Given the description of an element on the screen output the (x, y) to click on. 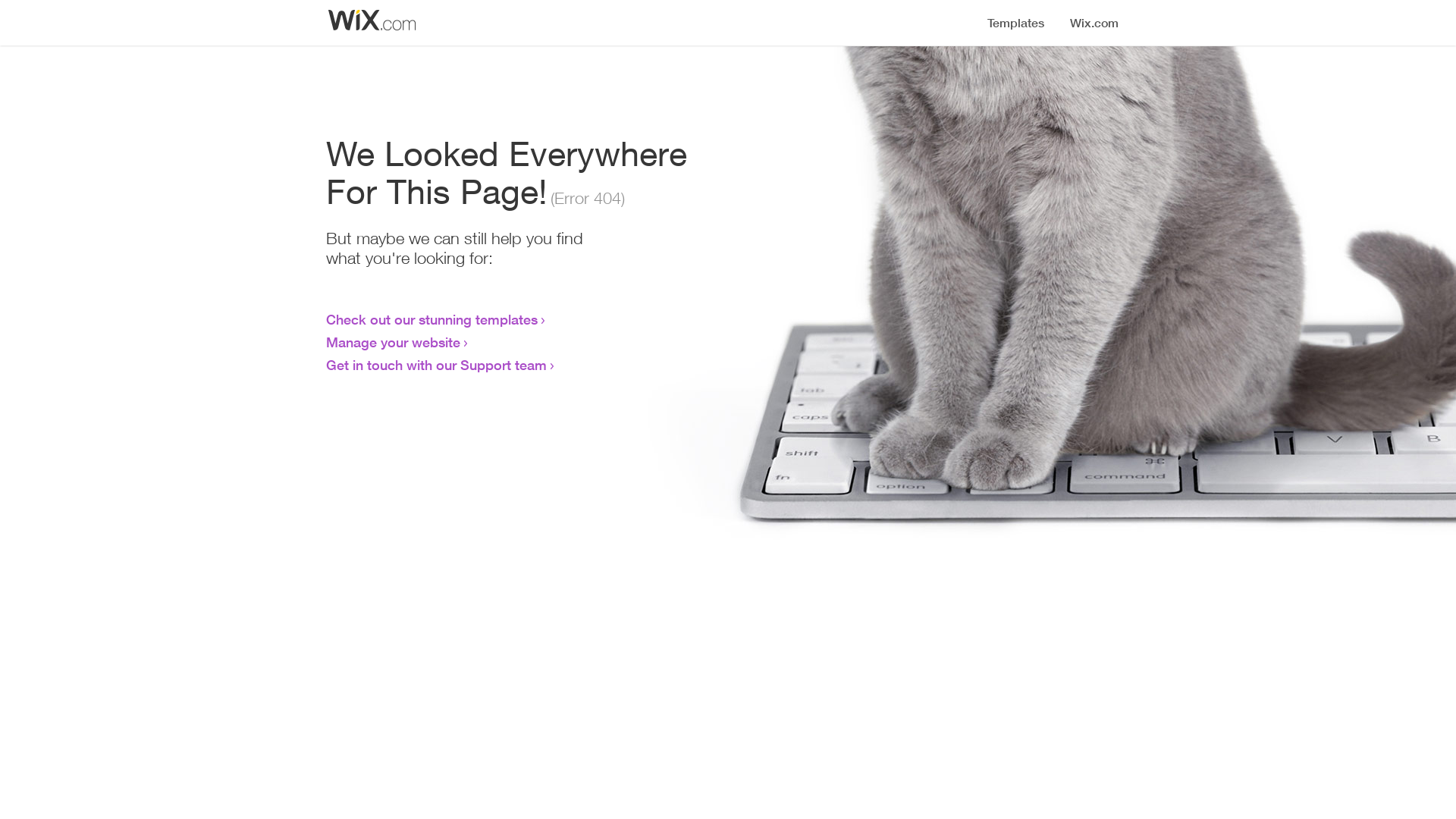
Get in touch with our Support team Element type: text (436, 364)
Manage your website Element type: text (393, 341)
Check out our stunning templates Element type: text (431, 318)
